Given the description of an element on the screen output the (x, y) to click on. 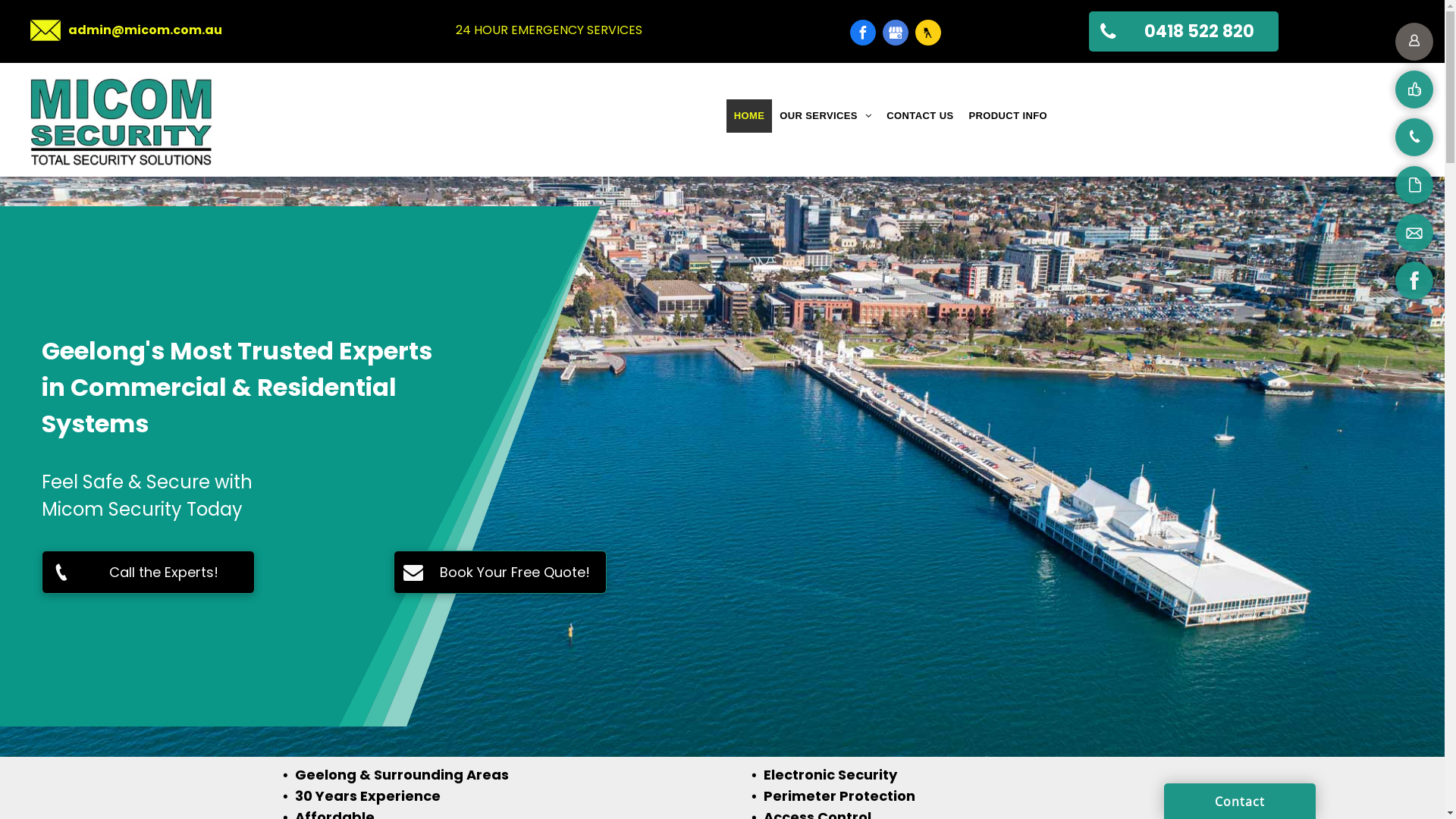
PRODUCT INFO Element type: text (1007, 115)
Book Your Free Quote! Element type: text (498, 571)
OUR SERVICES Element type: text (824, 115)
HOME Element type: text (749, 115)
0418 522 820 Element type: text (1183, 31)
Call the Experts! Element type: text (147, 571)
admin@micom.com.au Element type: text (145, 29)
CONTACT US Element type: text (919, 115)
